Given the description of an element on the screen output the (x, y) to click on. 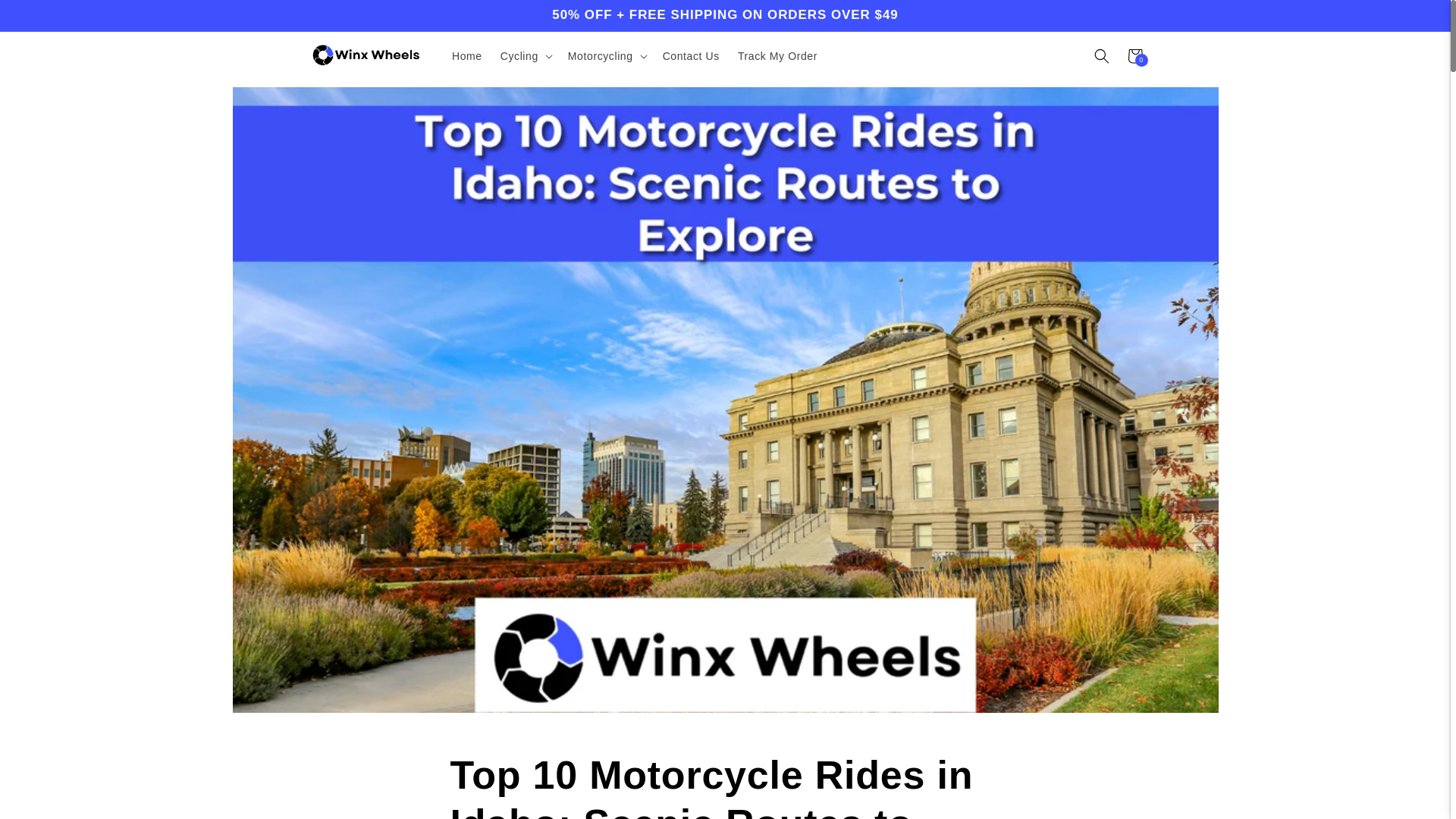
Home (467, 56)
Skip to content (45, 17)
